Given the description of an element on the screen output the (x, y) to click on. 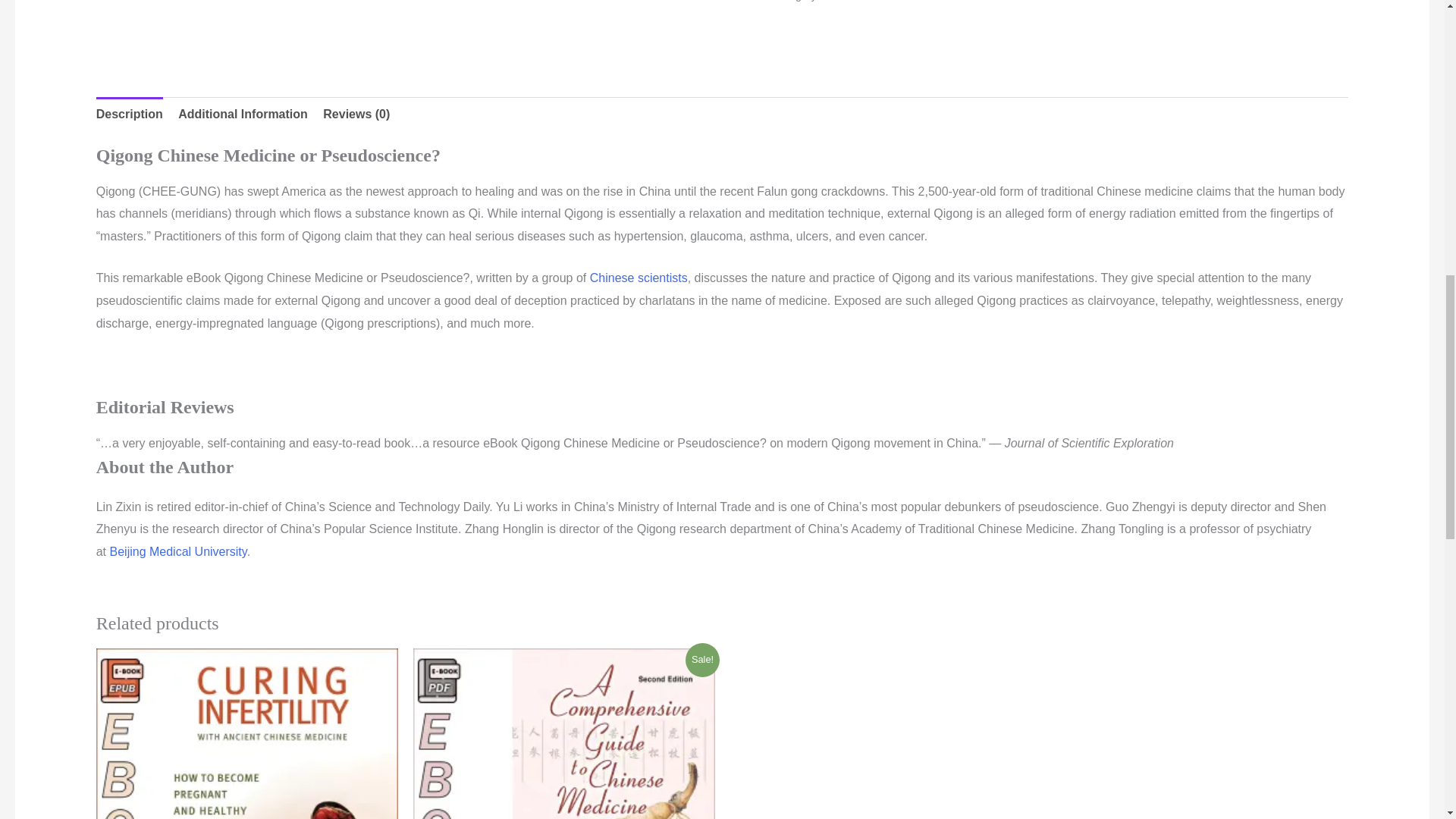
PayPal (1061, 31)
Description (129, 114)
Chinese Medicine (865, 0)
